Given the description of an element on the screen output the (x, y) to click on. 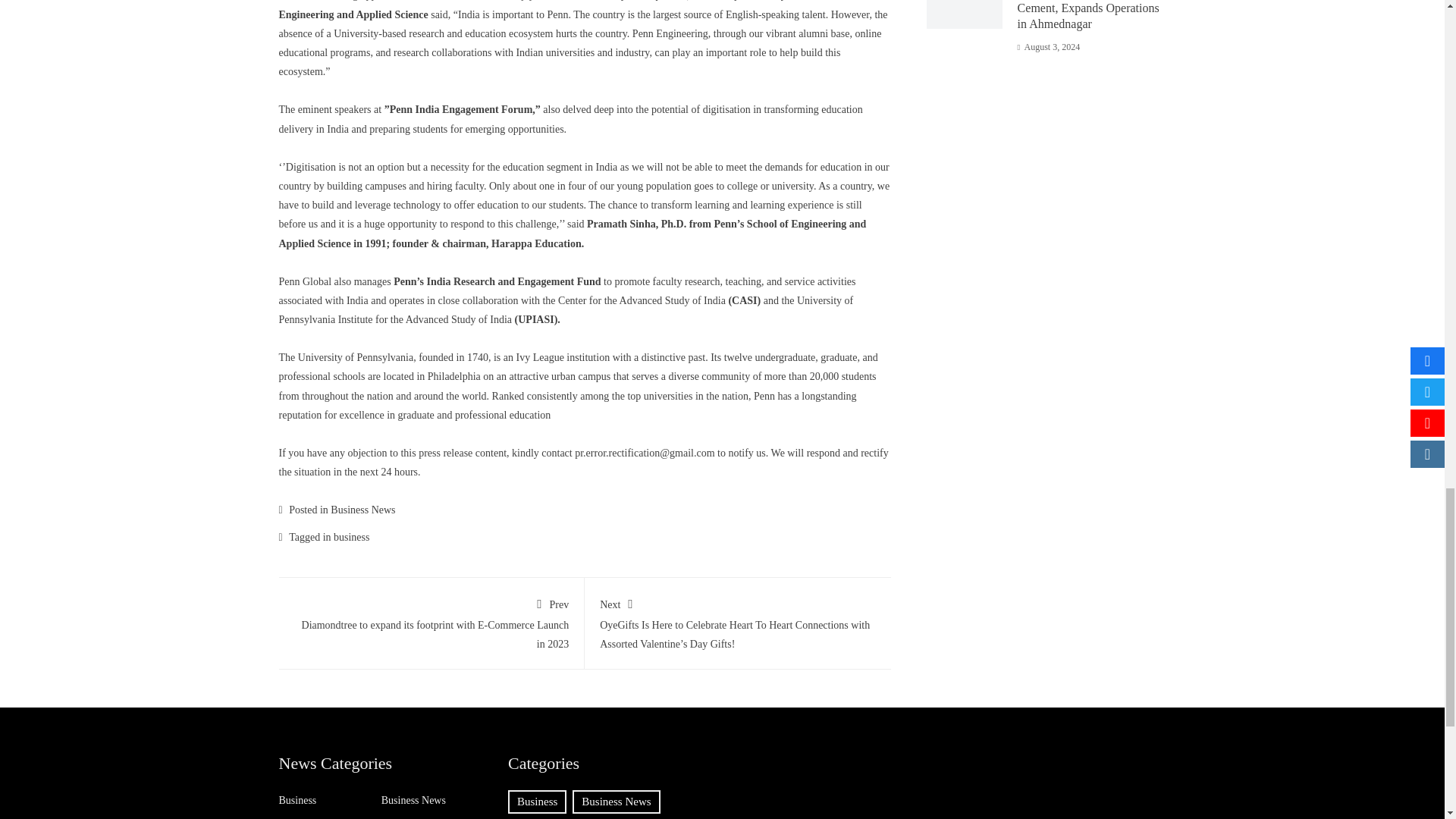
Vijay Kumar (539, 0)
business (351, 536)
Business News (362, 509)
